Given the description of an element on the screen output the (x, y) to click on. 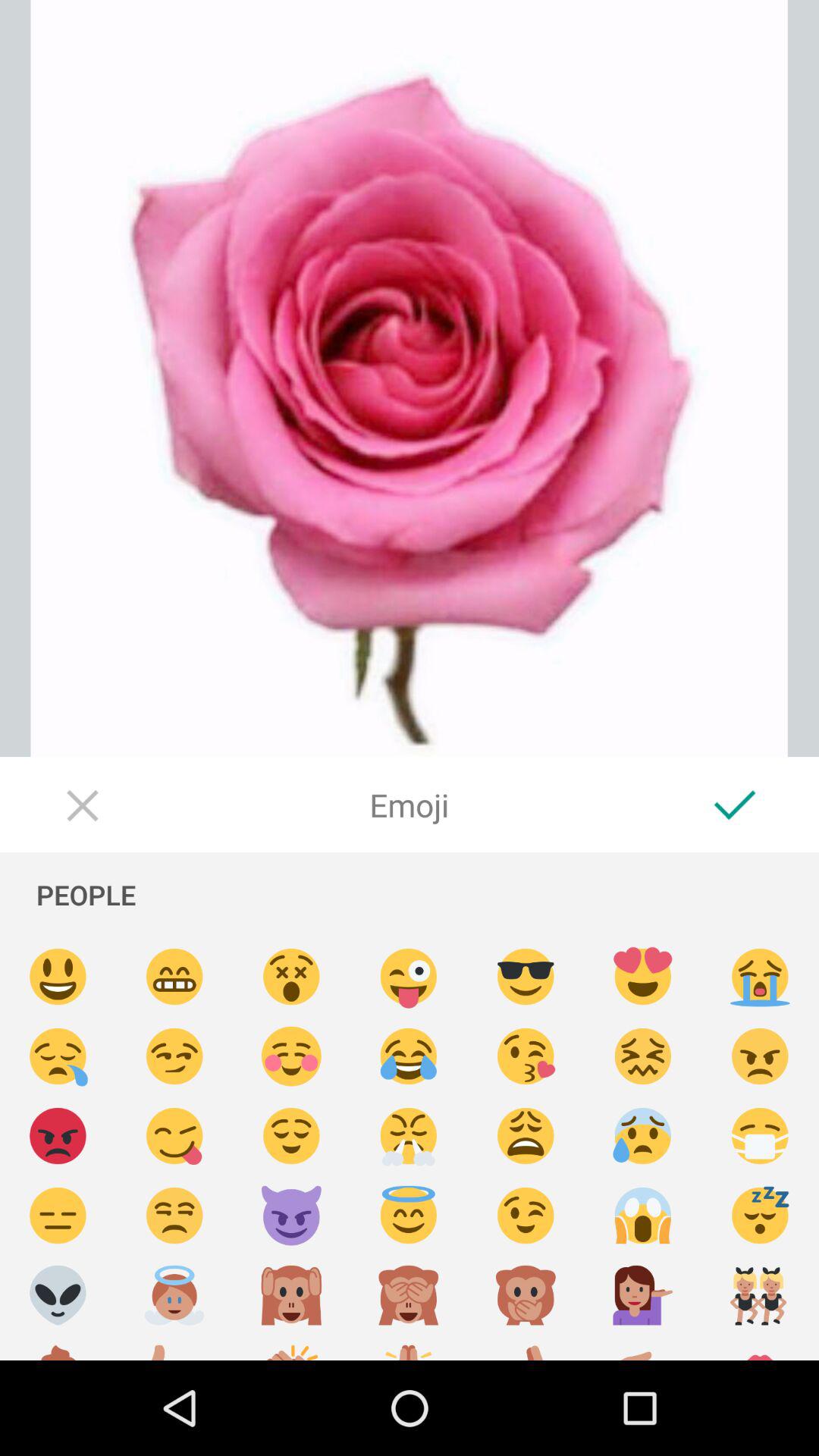
sunglasses smiling emoji (525, 976)
